Given the description of an element on the screen output the (x, y) to click on. 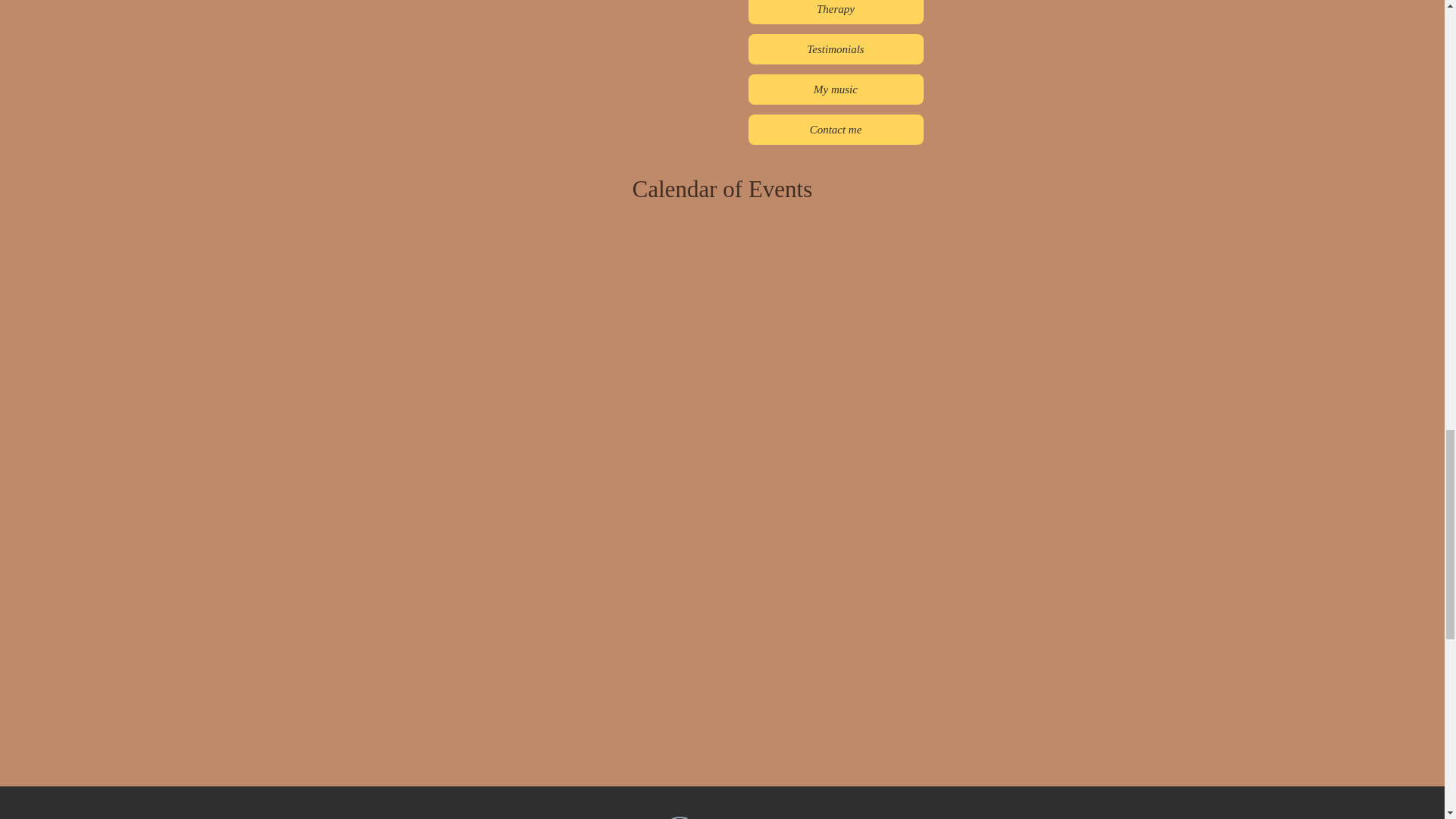
My music (835, 89)
Therapy (835, 12)
Contact me (835, 129)
Testimonials (835, 49)
